Given the description of an element on the screen output the (x, y) to click on. 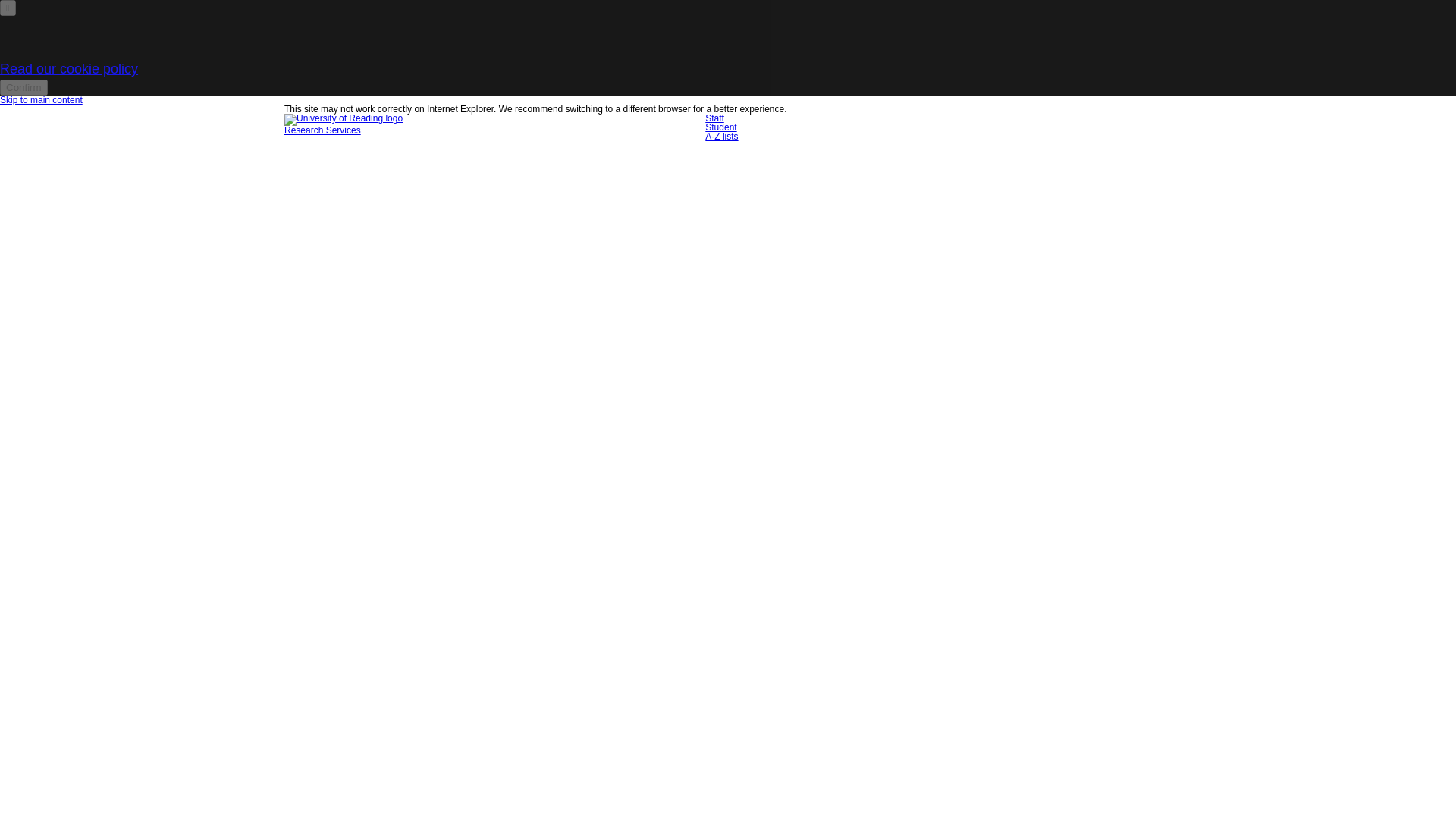
Skip to main content (41, 100)
Read our cookie policy (69, 68)
Staff (713, 118)
A-Z lists (721, 136)
Research Services (322, 130)
Research Services (322, 130)
Confirm (24, 87)
Student (720, 127)
